Given the description of an element on the screen output the (x, y) to click on. 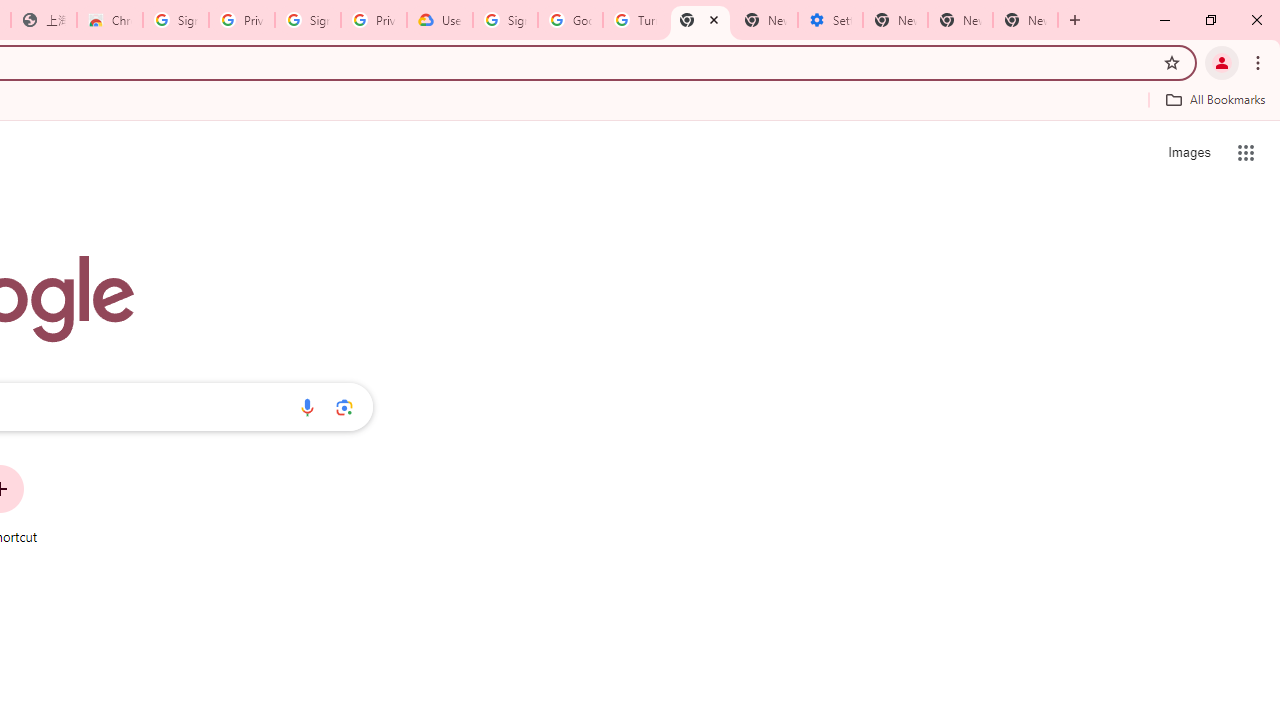
Settings - System (829, 20)
Google Account Help (569, 20)
Search by voice (307, 407)
Sign in - Google Accounts (504, 20)
New Tab (700, 20)
